Given the description of an element on the screen output the (x, y) to click on. 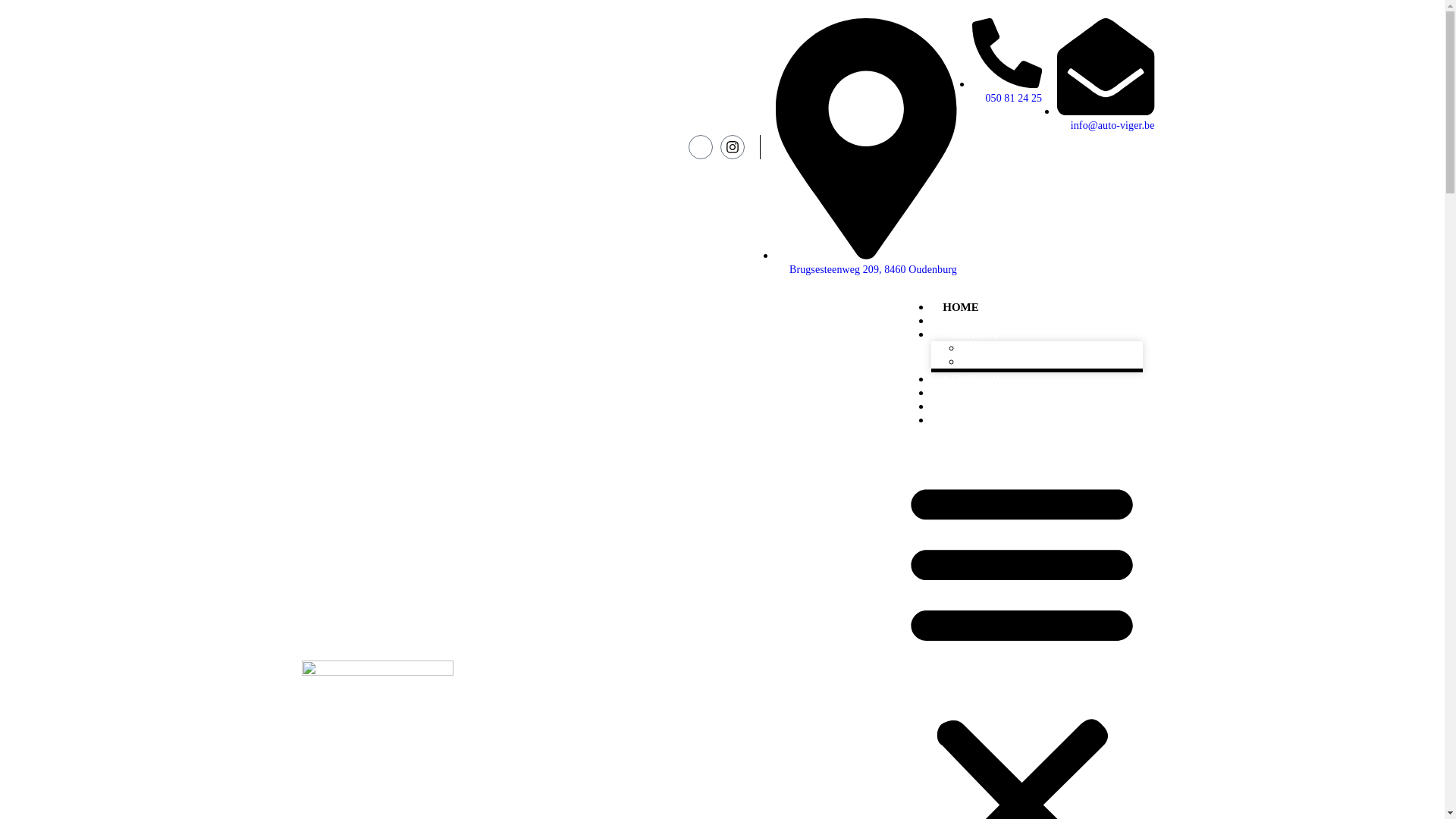
BEDRIJFSWAGENS Element type: text (1021, 361)
CONTACT Element type: text (970, 419)
info@auto-viger.be Element type: text (1110, 118)
Brugsesteenweg 209, 8460 Oudenburg Element type: text (871, 262)
ONDERHOUD & HERSTELLINGEN Element type: text (1036, 392)
VERHUUR Element type: text (971, 378)
VACATURES Element type: text (976, 406)
HOME Element type: text (960, 306)
VERKOOP Element type: text (971, 334)
OVER ONS Element type: text (972, 320)
PERSONENWAGENS Element type: text (1025, 347)
050 81 24 25 Element type: text (1012, 90)
